Given the description of an element on the screen output the (x, y) to click on. 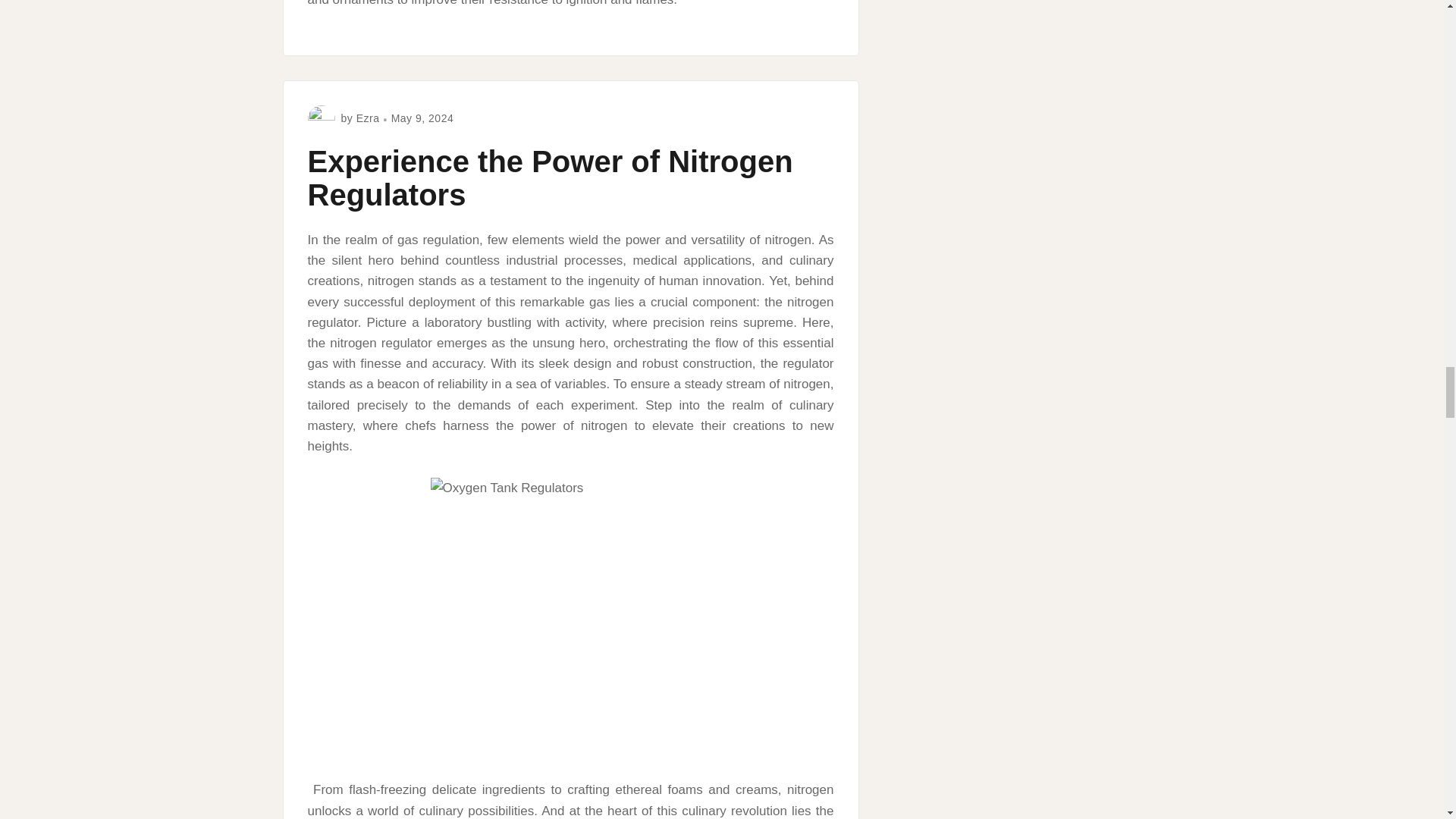
May 9, 2024 (422, 118)
Experience the Power of Nitrogen Regulators (550, 177)
Ezra (368, 118)
